Given the description of an element on the screen output the (x, y) to click on. 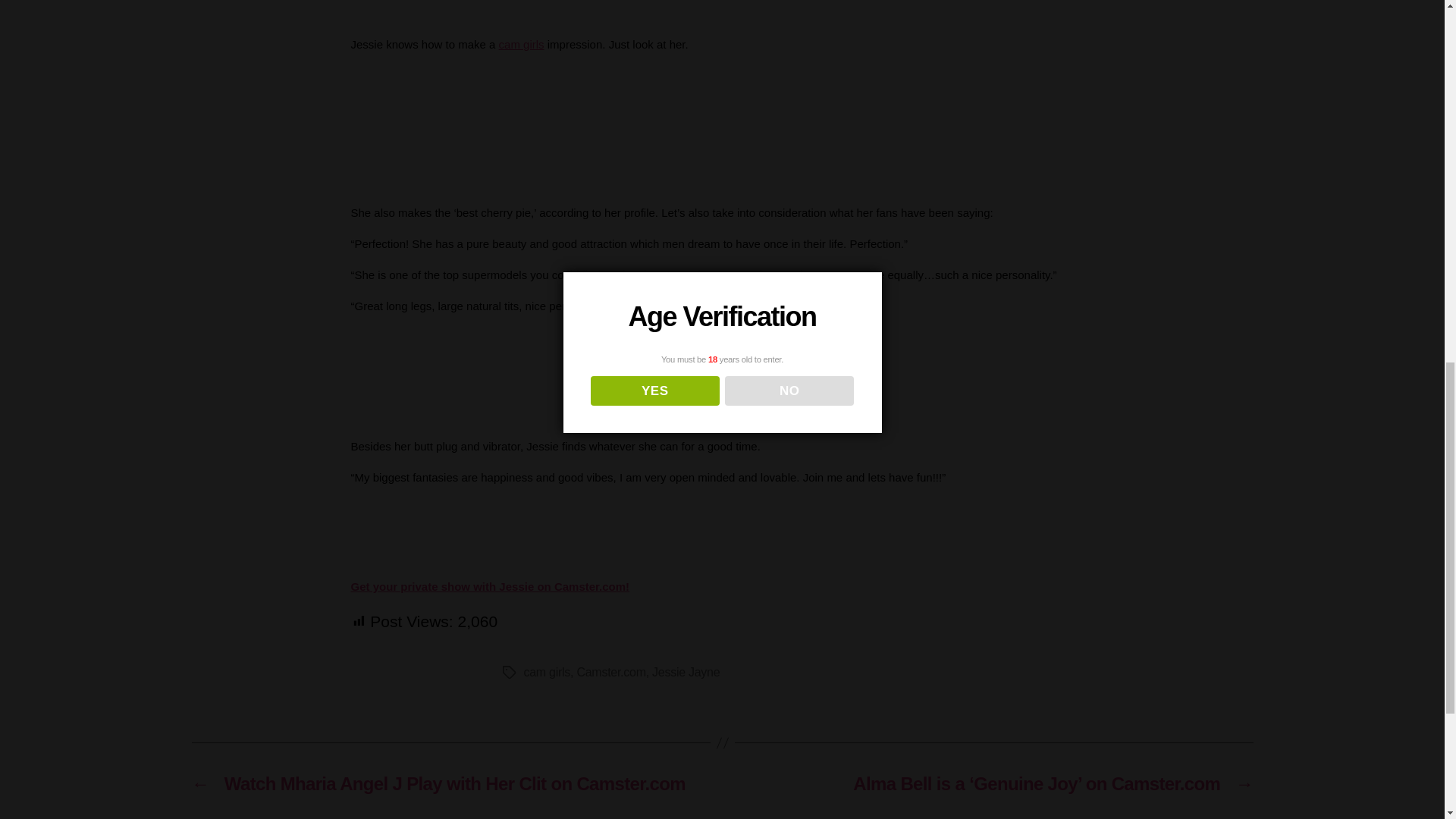
Get your private show with Jessie on Camster.com! (489, 585)
cam girls (521, 43)
Jessie Jayne (685, 671)
cam girls (546, 671)
Camster.com (610, 671)
